Given the description of an element on the screen output the (x, y) to click on. 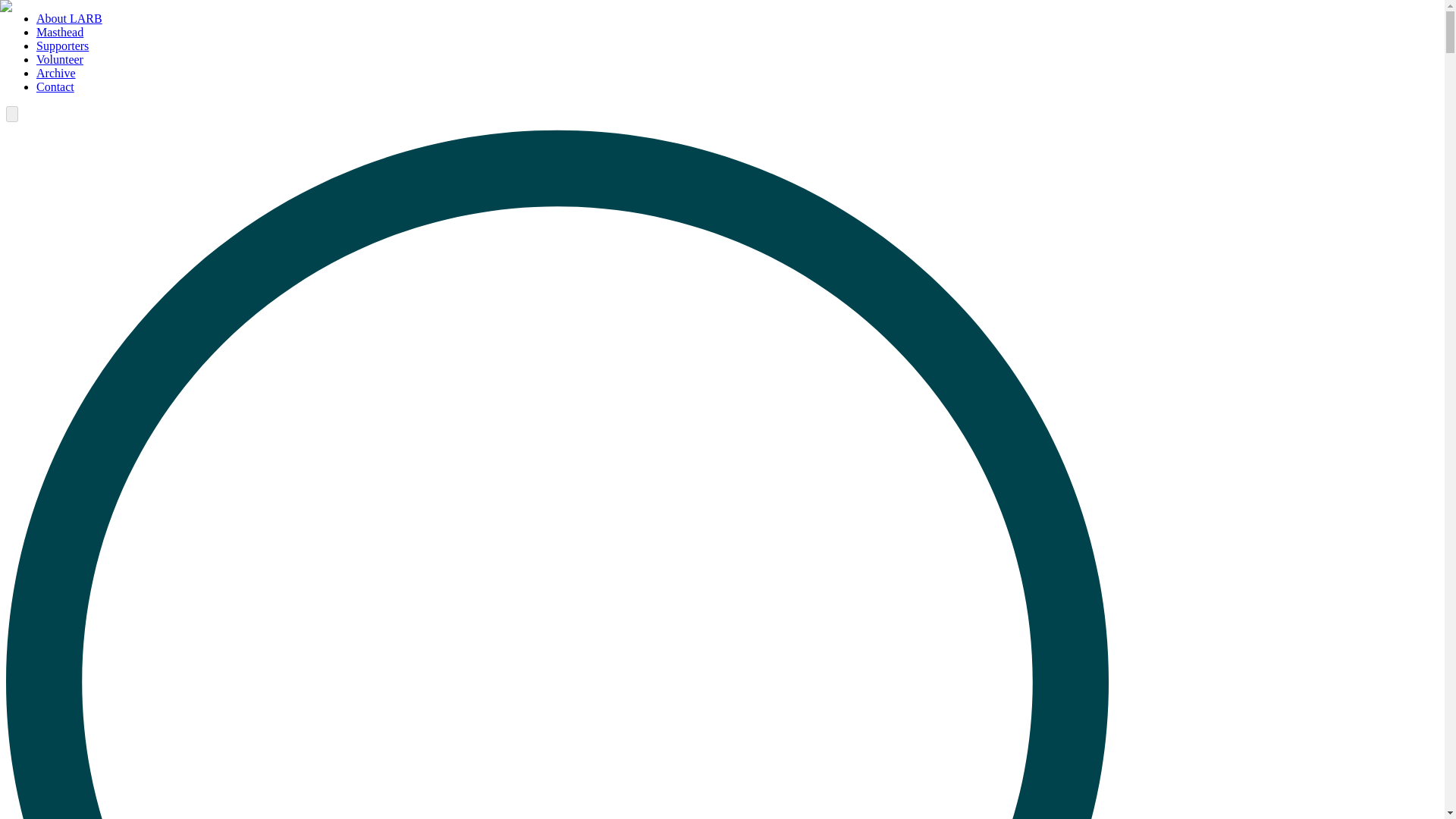
Archive (55, 72)
Masthead (59, 31)
Volunteer (59, 59)
Supporters (62, 45)
About LARB (68, 18)
Contact (55, 86)
